Given the description of an element on the screen output the (x, y) to click on. 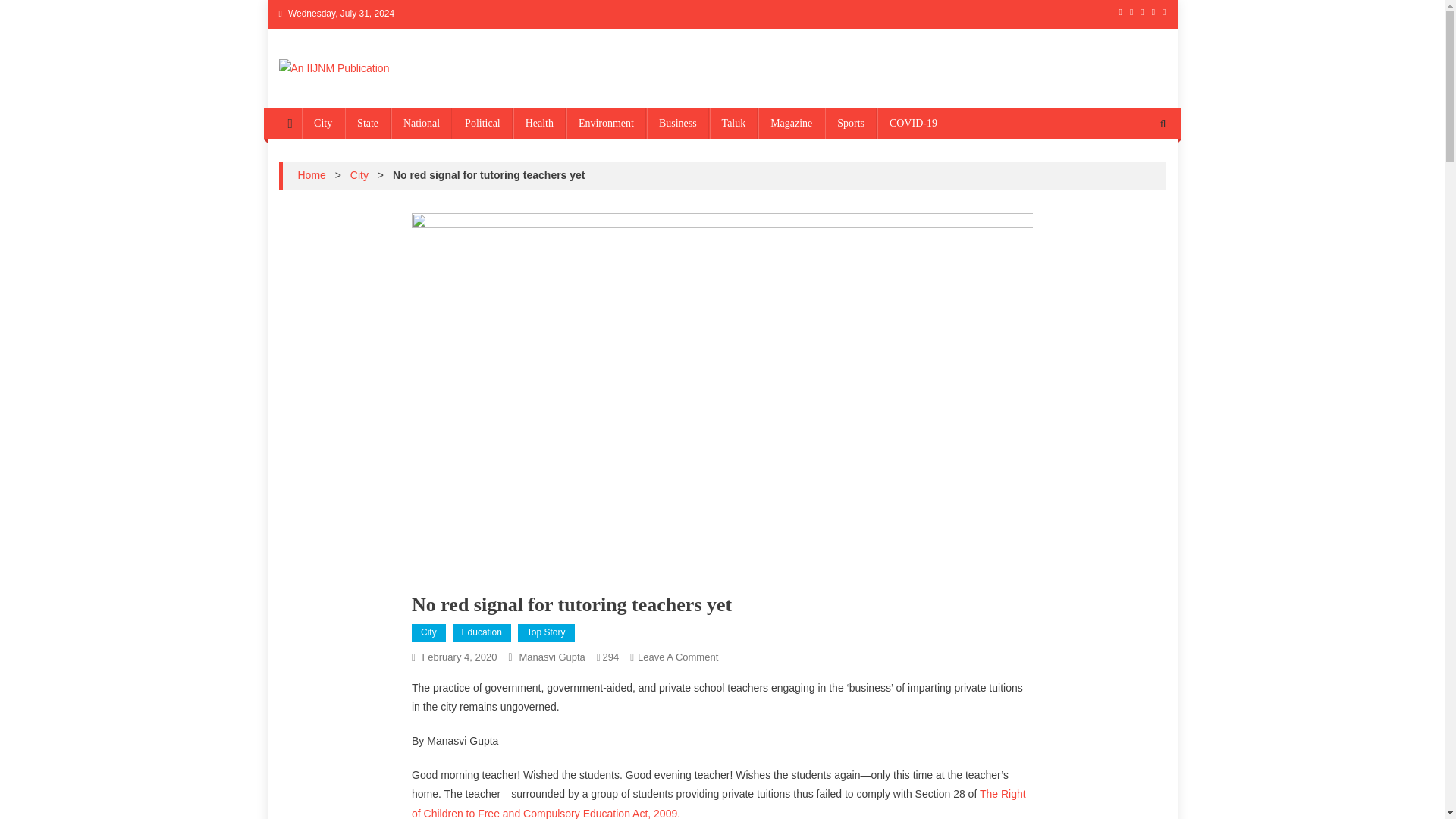
State (367, 123)
An IIJNM Publication (399, 93)
Political (677, 656)
Magazine (482, 123)
COVID-19 (791, 123)
Top Story (913, 123)
Health (546, 633)
City (539, 123)
Education (359, 174)
February 4, 2020 (481, 633)
City (459, 656)
Search (322, 123)
Manasvi Gupta (1133, 174)
